Given the description of an element on the screen output the (x, y) to click on. 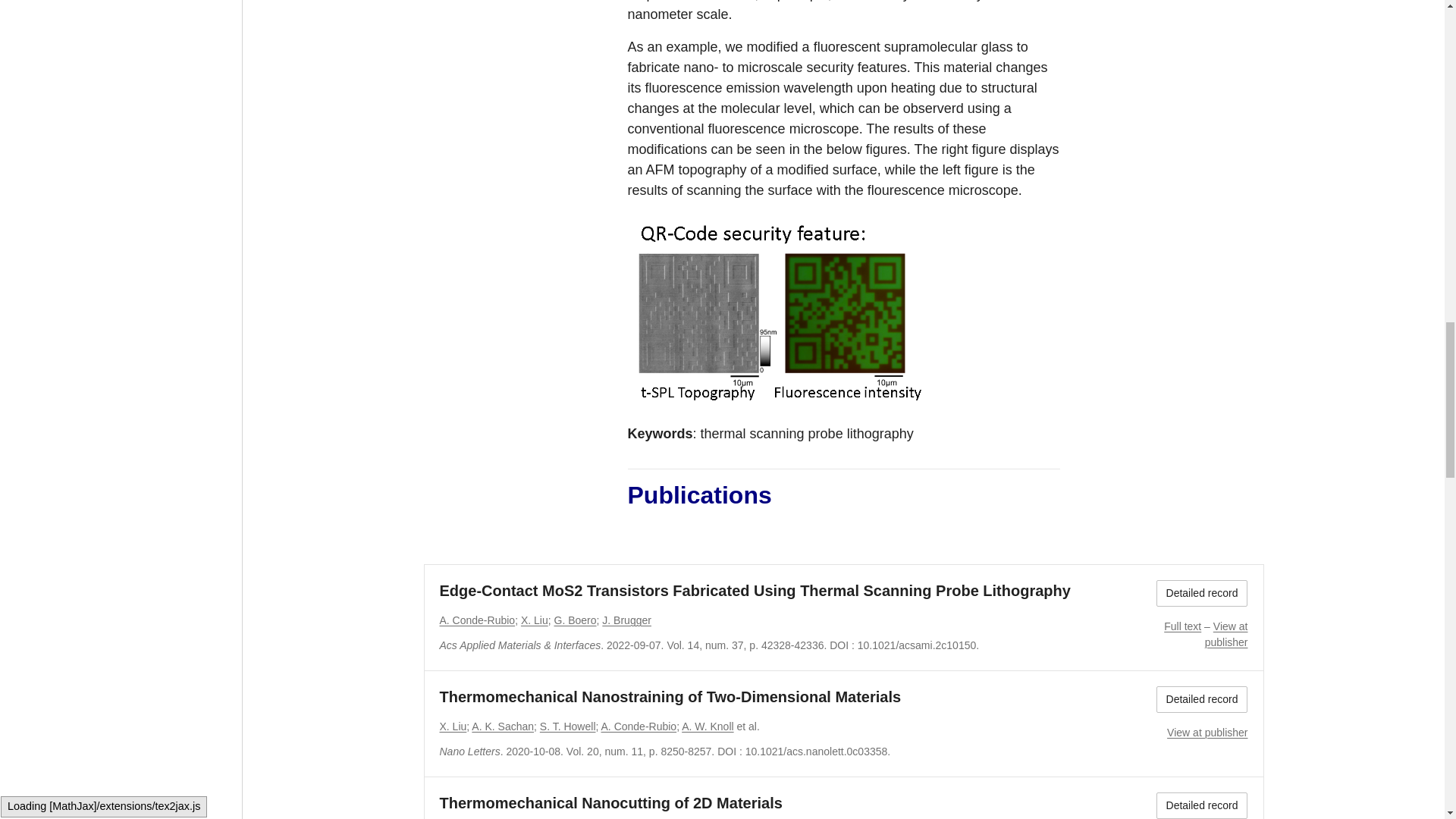
View at publisher (1226, 633)
A. K. Sachan (502, 726)
G. Boero (574, 620)
A. Conde-Rubio (477, 620)
A. Conde-Rubio (639, 726)
J. Brugger (626, 620)
Full text (1182, 625)
S. T. Howell (567, 726)
A. W. Knoll (707, 726)
Detailed record (1201, 592)
X. Liu (534, 620)
X. Liu (453, 726)
